Given the description of an element on the screen output the (x, y) to click on. 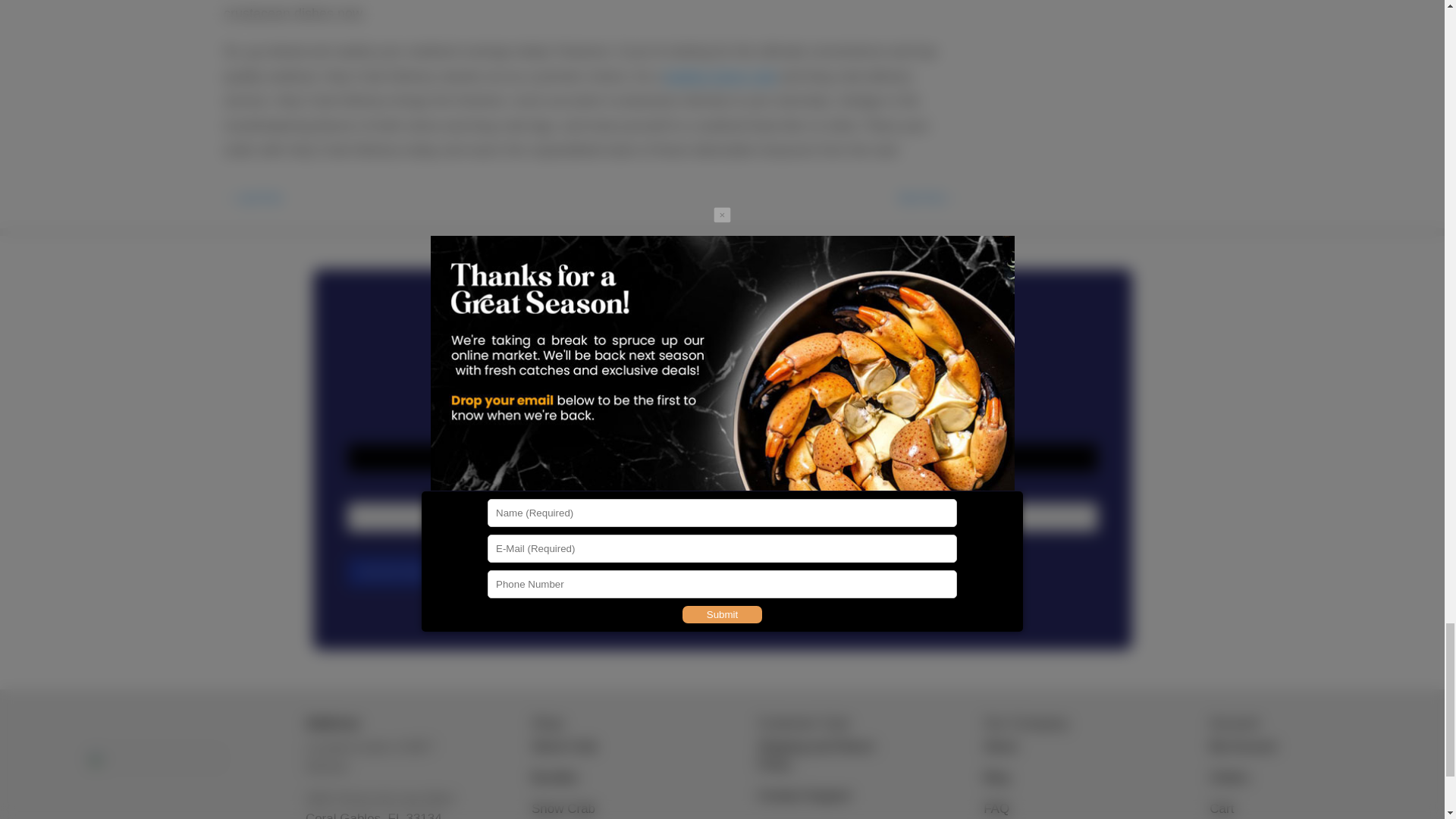
holy-crab-delivery-logo copy (156, 785)
Join the Club (391, 571)
